Given the description of an element on the screen output the (x, y) to click on. 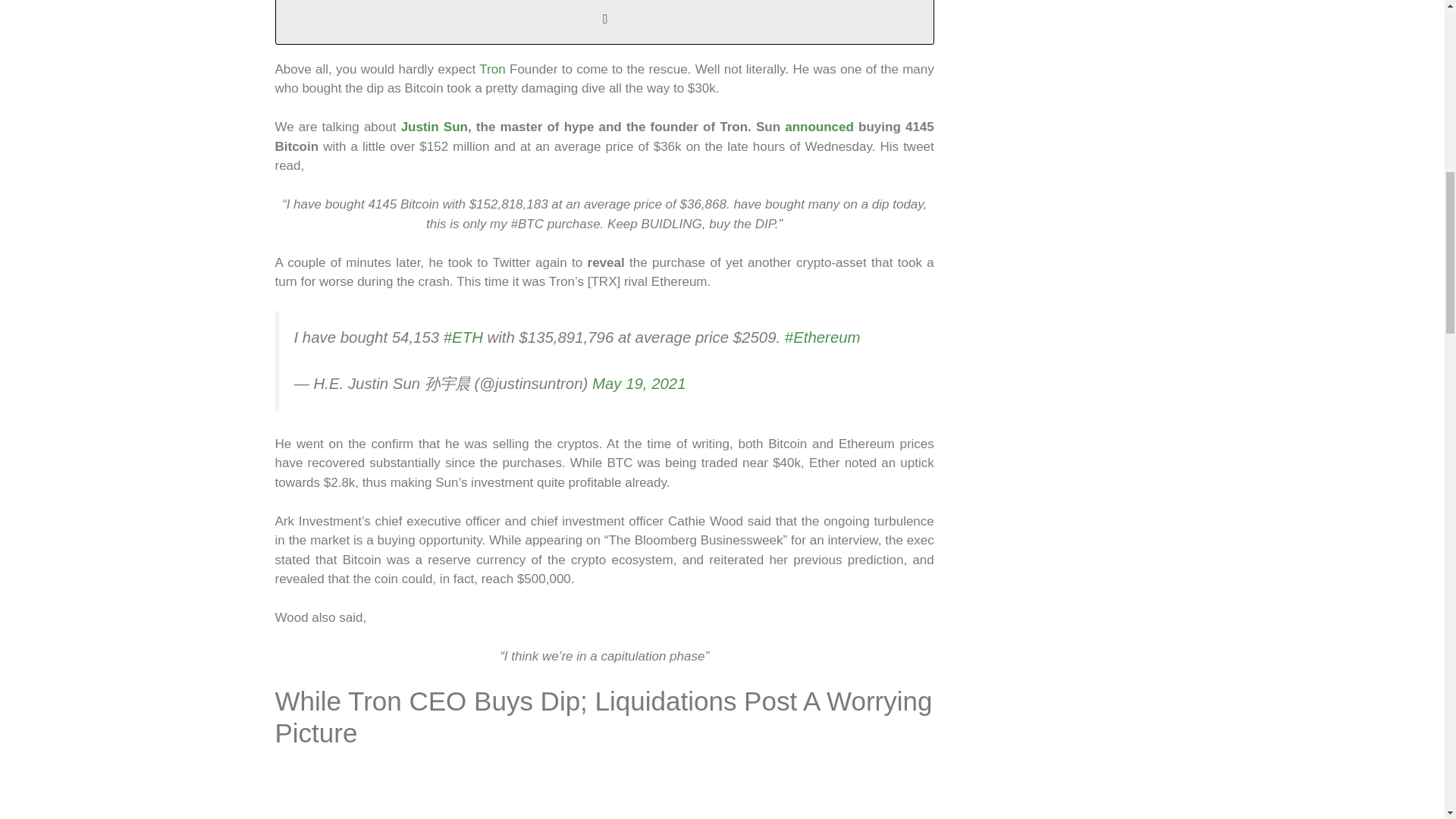
Scroll back to top (1406, 720)
